Given the description of an element on the screen output the (x, y) to click on. 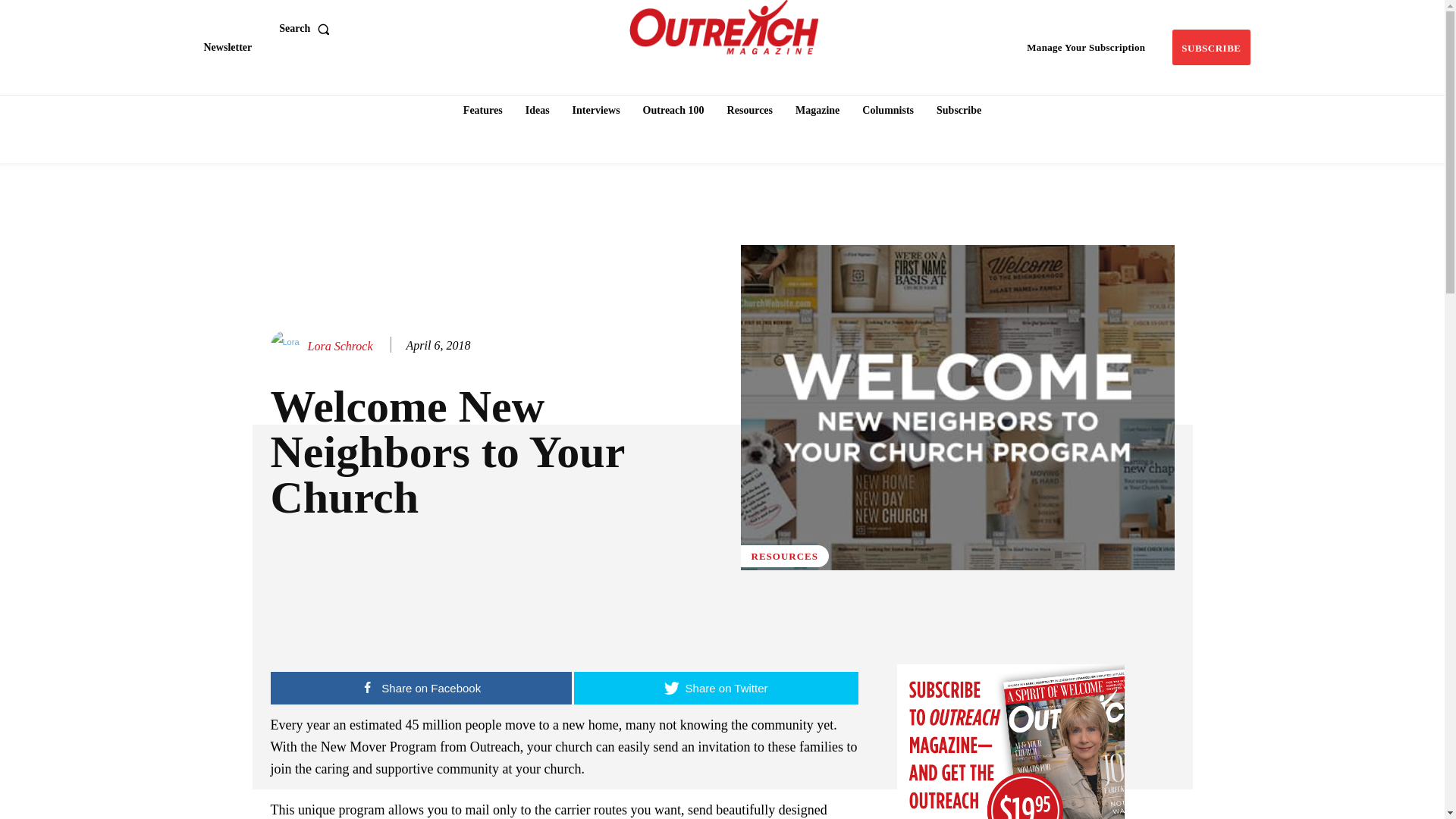
Subscribe (1210, 47)
Newsletter (226, 47)
Manage Your Subscription (1085, 47)
